Given the description of an element on the screen output the (x, y) to click on. 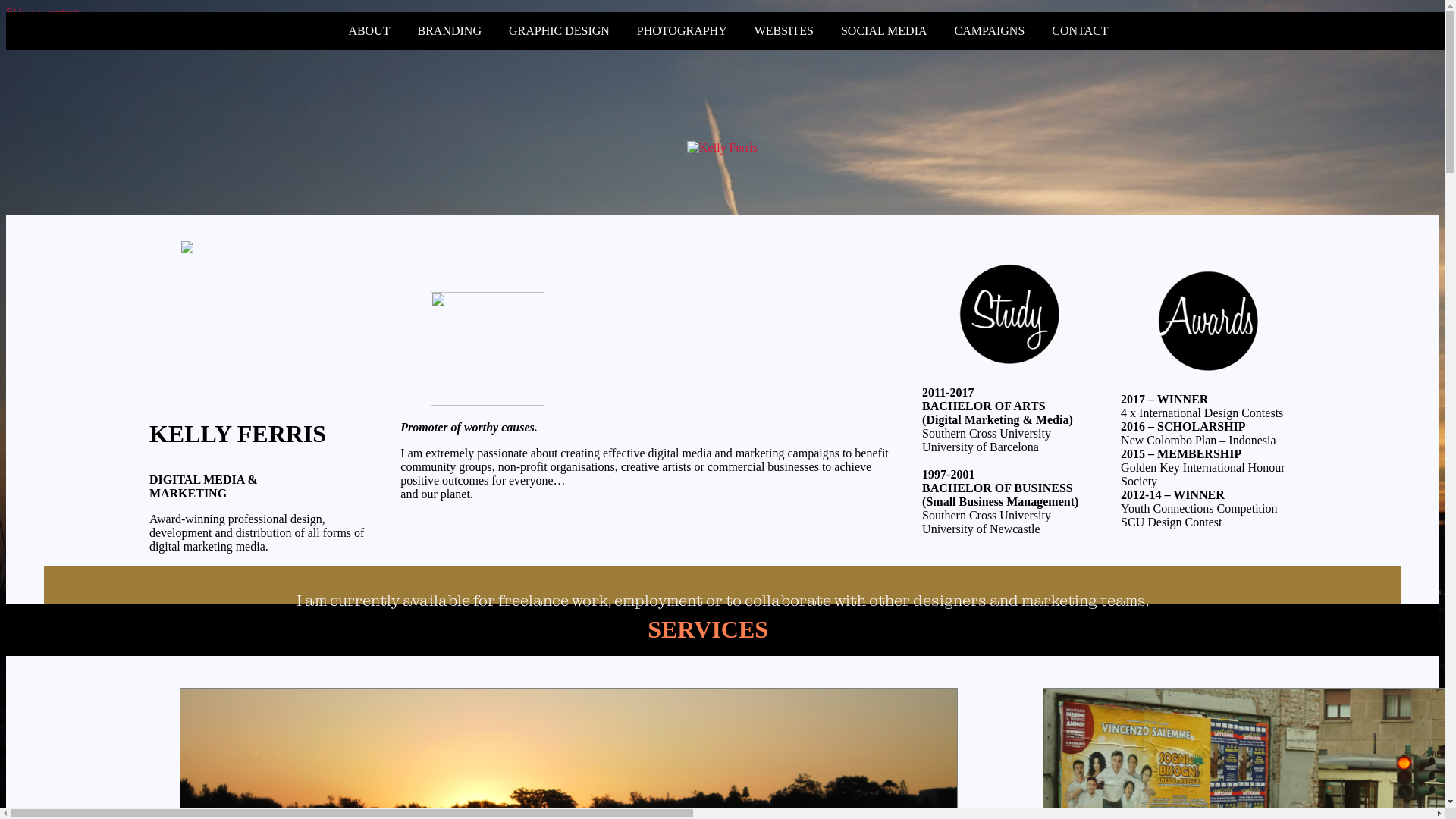
Skip to content Element type: text (42, 12)
CONTACT Element type: text (1079, 30)
SOCIAL MEDIA Element type: text (883, 30)
WEBSITES Element type: text (783, 30)
Kelly Ferris Element type: text (35, 233)
PHOTOGRAPHY Element type: text (681, 30)
GRAPHIC DESIGN Element type: text (558, 30)
ABOUT Element type: text (368, 30)
CAMPAIGNS Element type: text (989, 30)
BRANDING Element type: text (448, 30)
